Given the description of an element on the screen output the (x, y) to click on. 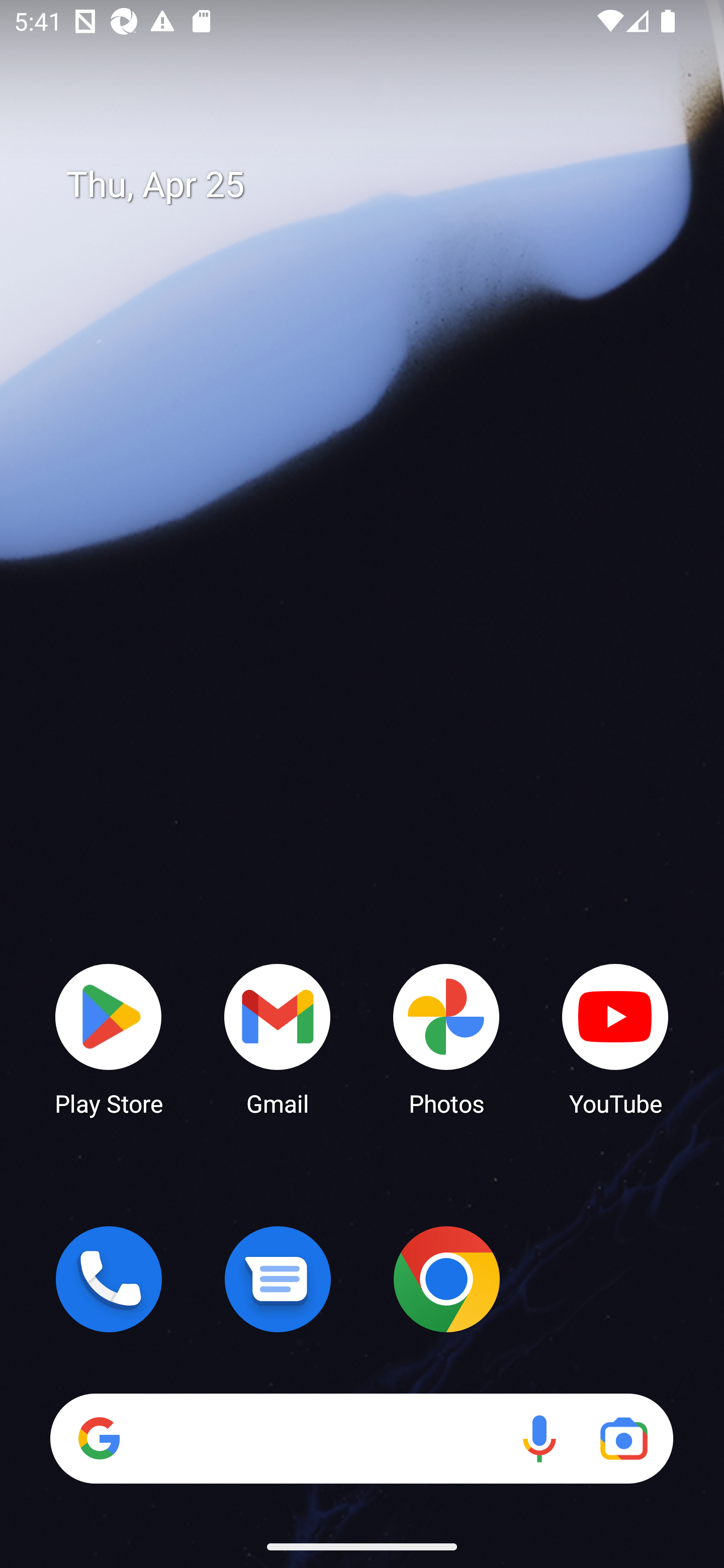
Thu, Apr 25 (375, 184)
Play Store (108, 1038)
Gmail (277, 1038)
Photos (445, 1038)
YouTube (615, 1038)
Phone (108, 1279)
Messages (277, 1279)
Chrome (446, 1279)
Search Voice search Google Lens (361, 1438)
Voice search (539, 1438)
Google Lens (623, 1438)
